Given the description of an element on the screen output the (x, y) to click on. 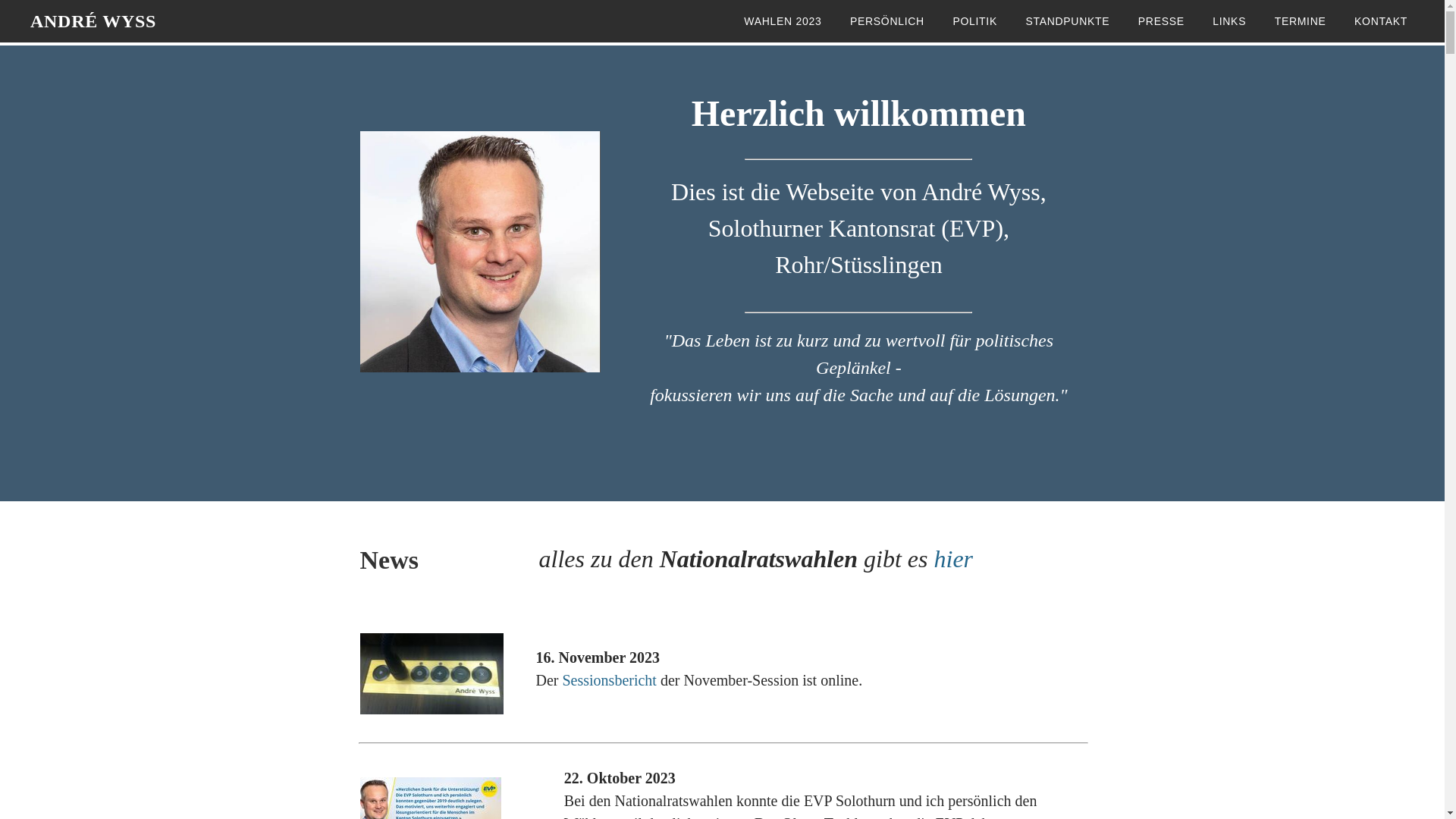
KONTAKT Element type: text (1380, 20)
LINKS Element type: text (1228, 20)
PRESSE Element type: text (1161, 20)
Sessionsbericht Element type: text (608, 679)
TERMINE Element type: text (1300, 20)
POLITIK Element type: text (974, 20)
STANDPUNKTE Element type: text (1067, 20)
WAHLEN 2023 Element type: text (782, 20)
hier Element type: text (953, 558)
